Given the description of an element on the screen output the (x, y) to click on. 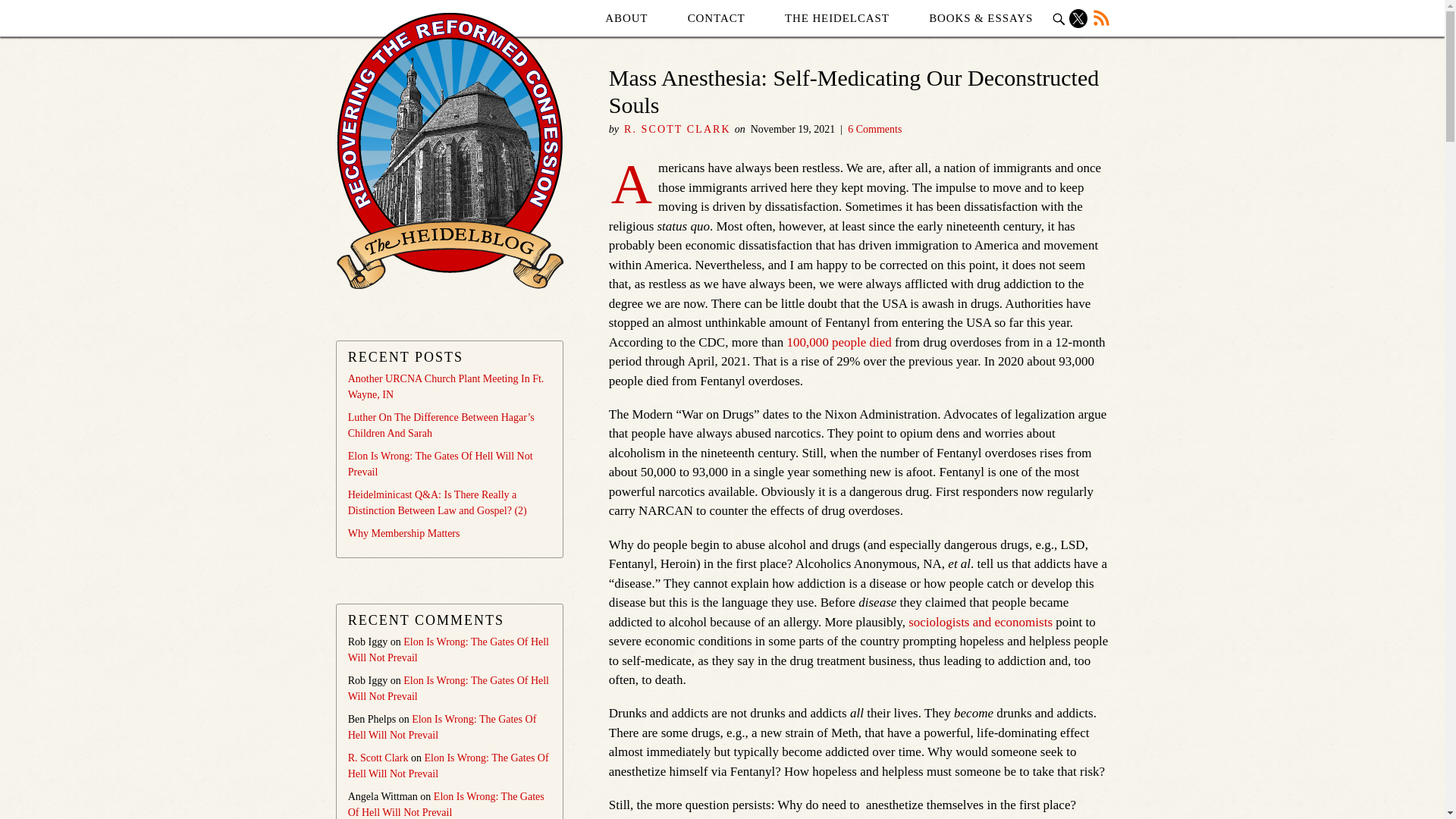
6 Comments (874, 129)
sociologists and economists (980, 622)
Brendan W. Case (653, 817)
CONTACT (715, 18)
R. SCOTT CLARK (677, 129)
The Heidelcast (837, 18)
About (625, 18)
THE HEIDELCAST (837, 18)
100,000 people died (838, 341)
ABOUT (625, 18)
Contact (715, 18)
